Given the description of an element on the screen output the (x, y) to click on. 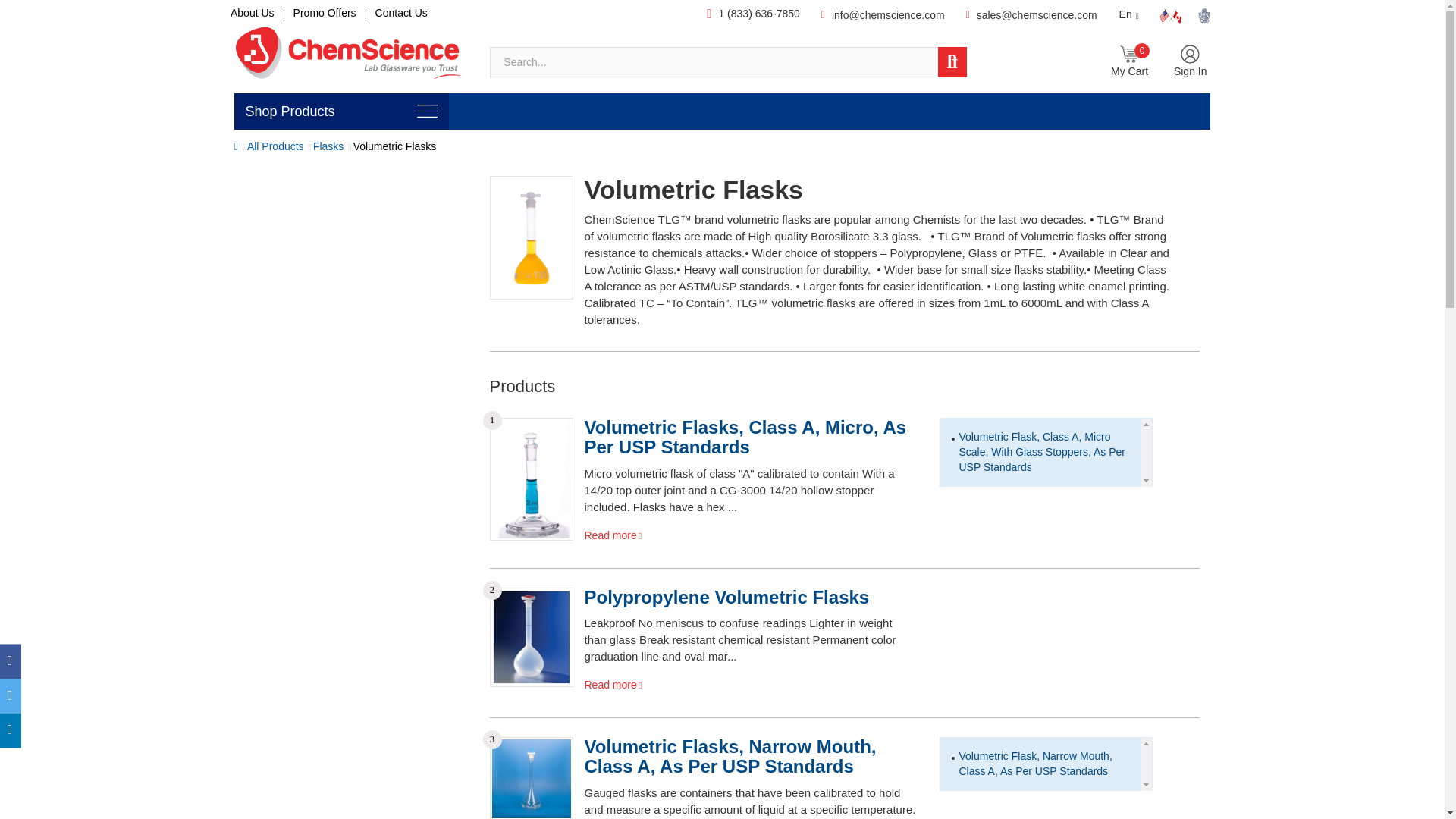
Sign In (1190, 62)
Icon (1170, 15)
My Cart (1129, 62)
Icon (427, 110)
En (1129, 14)
Contact Us (400, 12)
Promo Offers (324, 12)
Icon (1191, 55)
About Us (256, 12)
Icon (1129, 55)
